Given the description of an element on the screen output the (x, y) to click on. 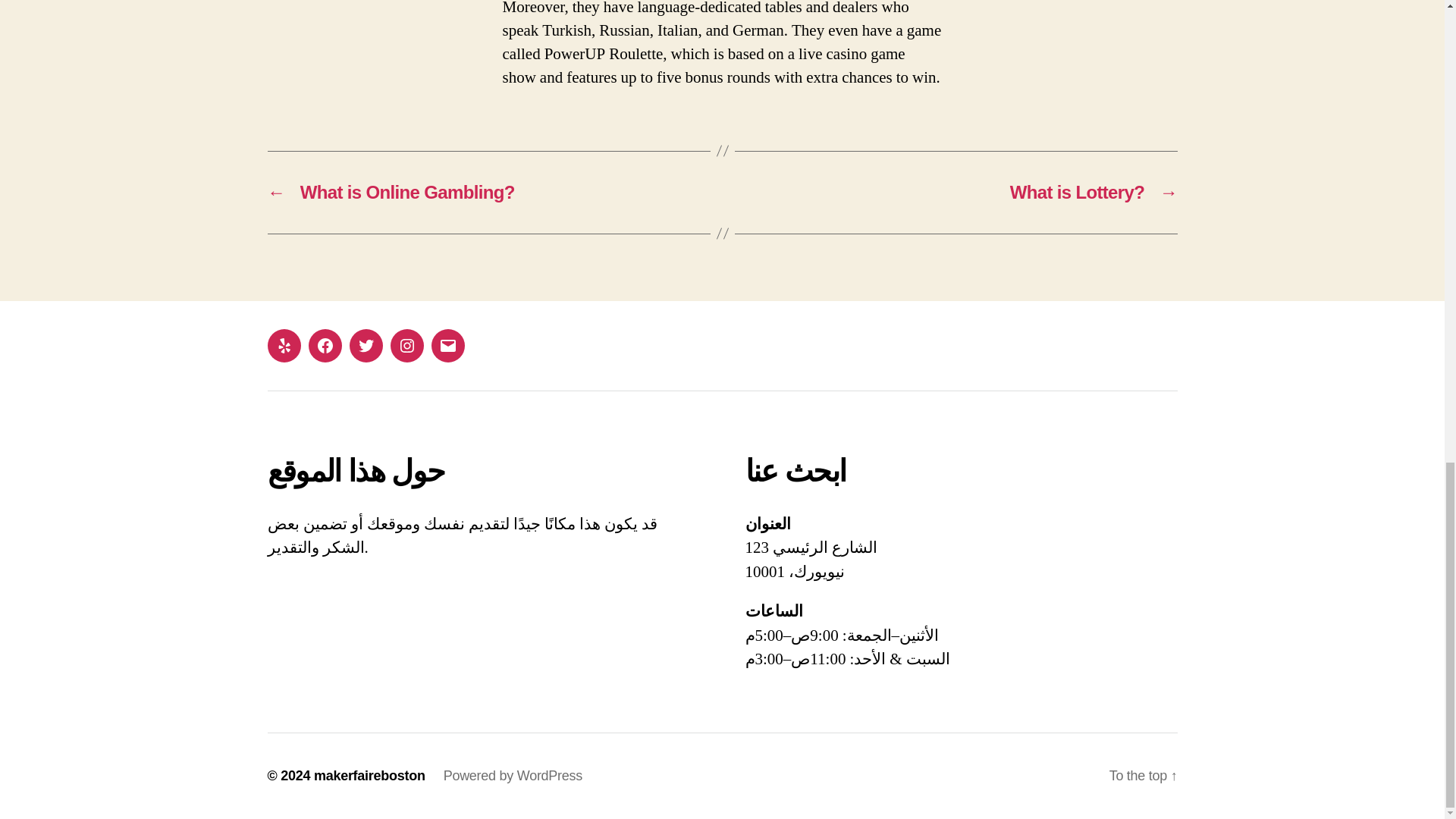
makerfaireboston (369, 775)
Yelp (282, 345)
Powered by WordPress (513, 775)
Instagram (406, 345)
